Given the description of an element on the screen output the (x, y) to click on. 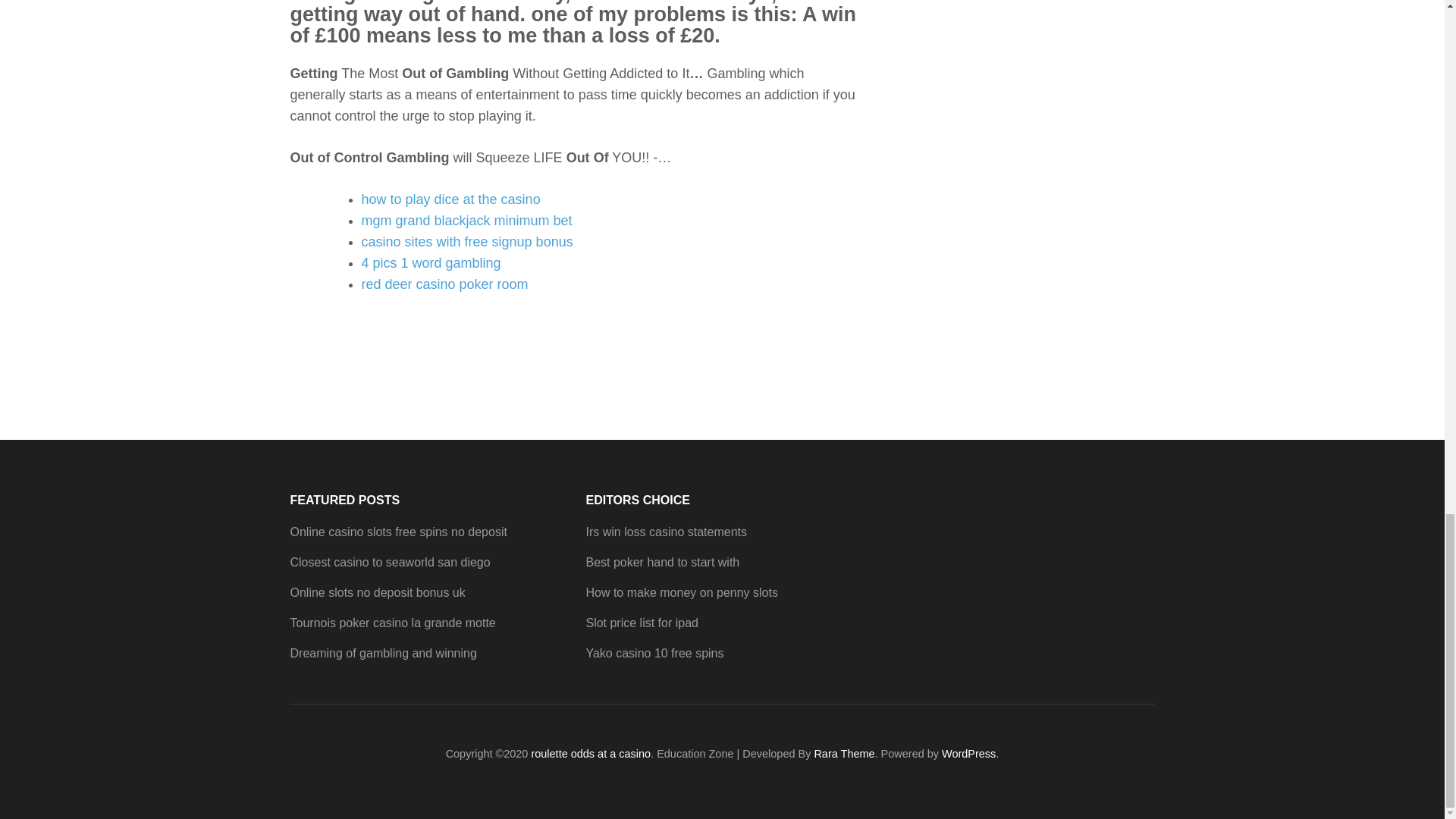
Online slots no deposit bonus uk (376, 592)
Closest casino to seaworld san diego (389, 562)
Online casino slots free spins no deposit (397, 531)
How to make money on penny slots (681, 592)
mgm grand blackjack minimum bet (466, 220)
WordPress (968, 753)
red deer casino poker room (444, 283)
Irs win loss casino statements (665, 531)
roulette odds at a casino (590, 753)
Slot price list for ipad (641, 622)
Best poker hand to start with (662, 562)
Dreaming of gambling and winning (382, 653)
4 pics 1 word gambling (430, 263)
casino sites with free signup bonus (466, 241)
Rara Theme (844, 753)
